Given the description of an element on the screen output the (x, y) to click on. 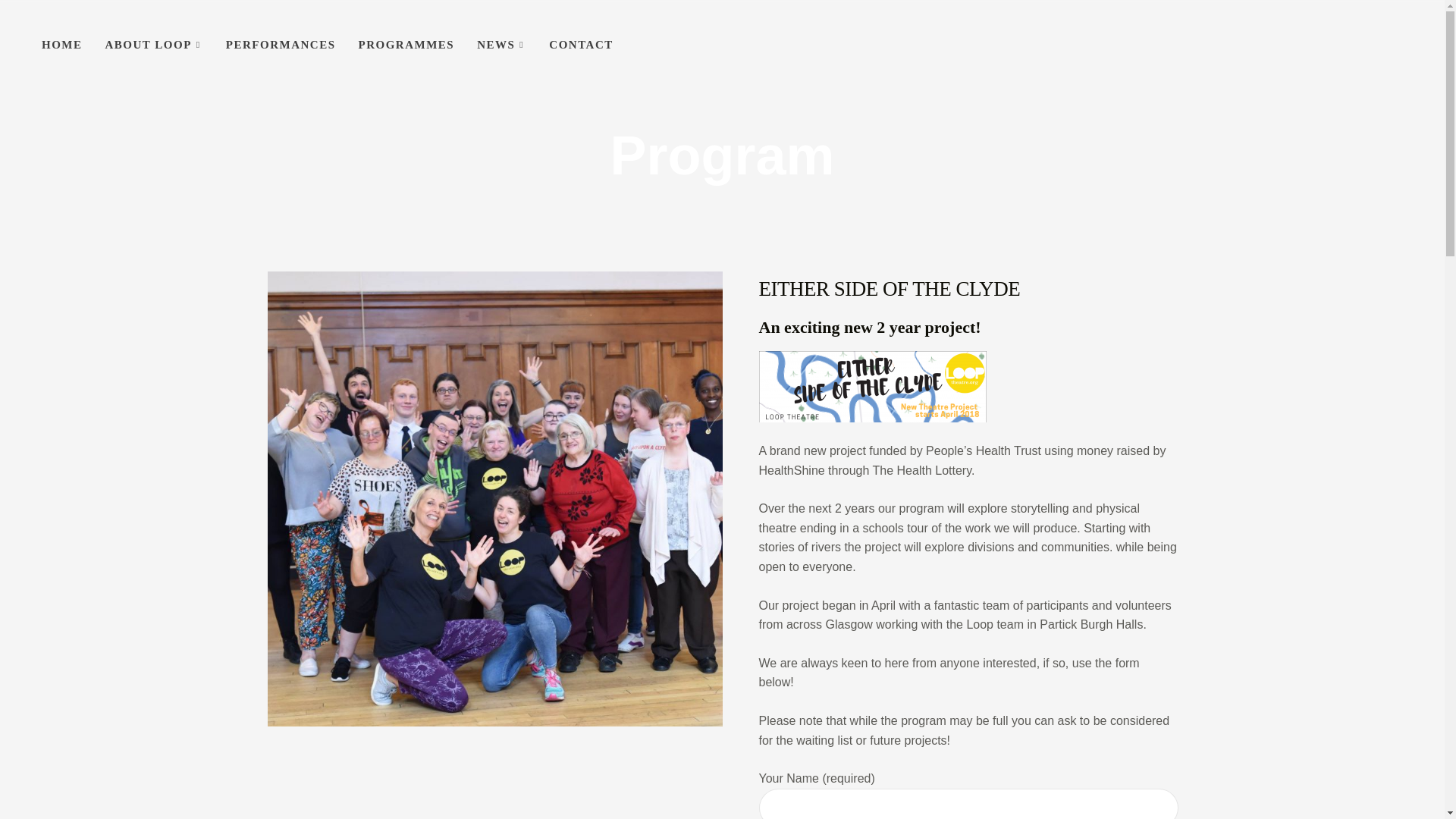
PROGRAMMES (406, 44)
CONTACT (580, 44)
PERFORMANCES (280, 44)
NEWS (501, 44)
ABOUT LOOP (154, 44)
